Given the description of an element on the screen output the (x, y) to click on. 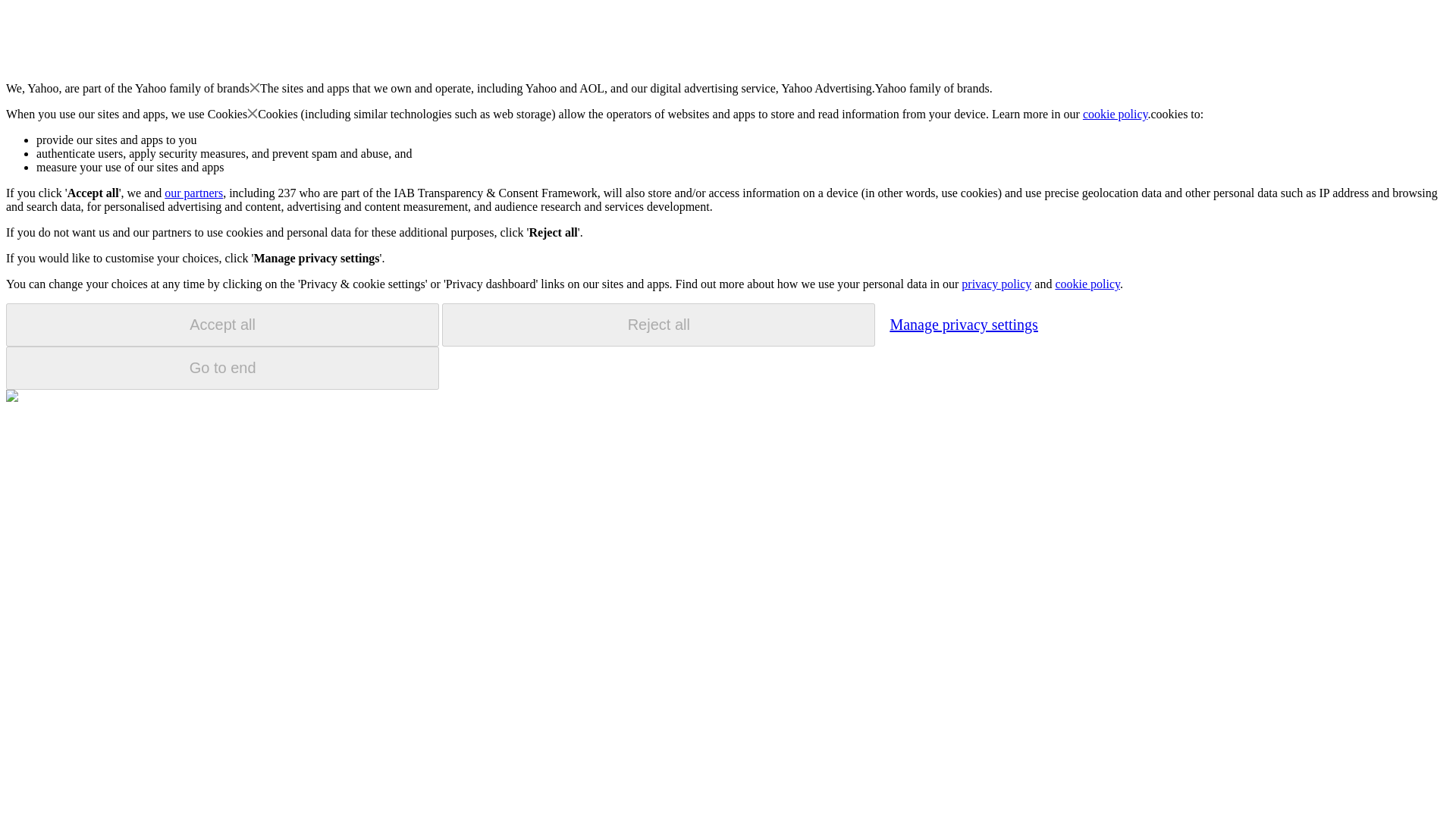
privacy policy (995, 283)
Reject all (658, 324)
Go to end (222, 367)
Manage privacy settings (963, 323)
Accept all (222, 324)
cookie policy (1086, 283)
cookie policy (1115, 113)
our partners (193, 192)
